Given the description of an element on the screen output the (x, y) to click on. 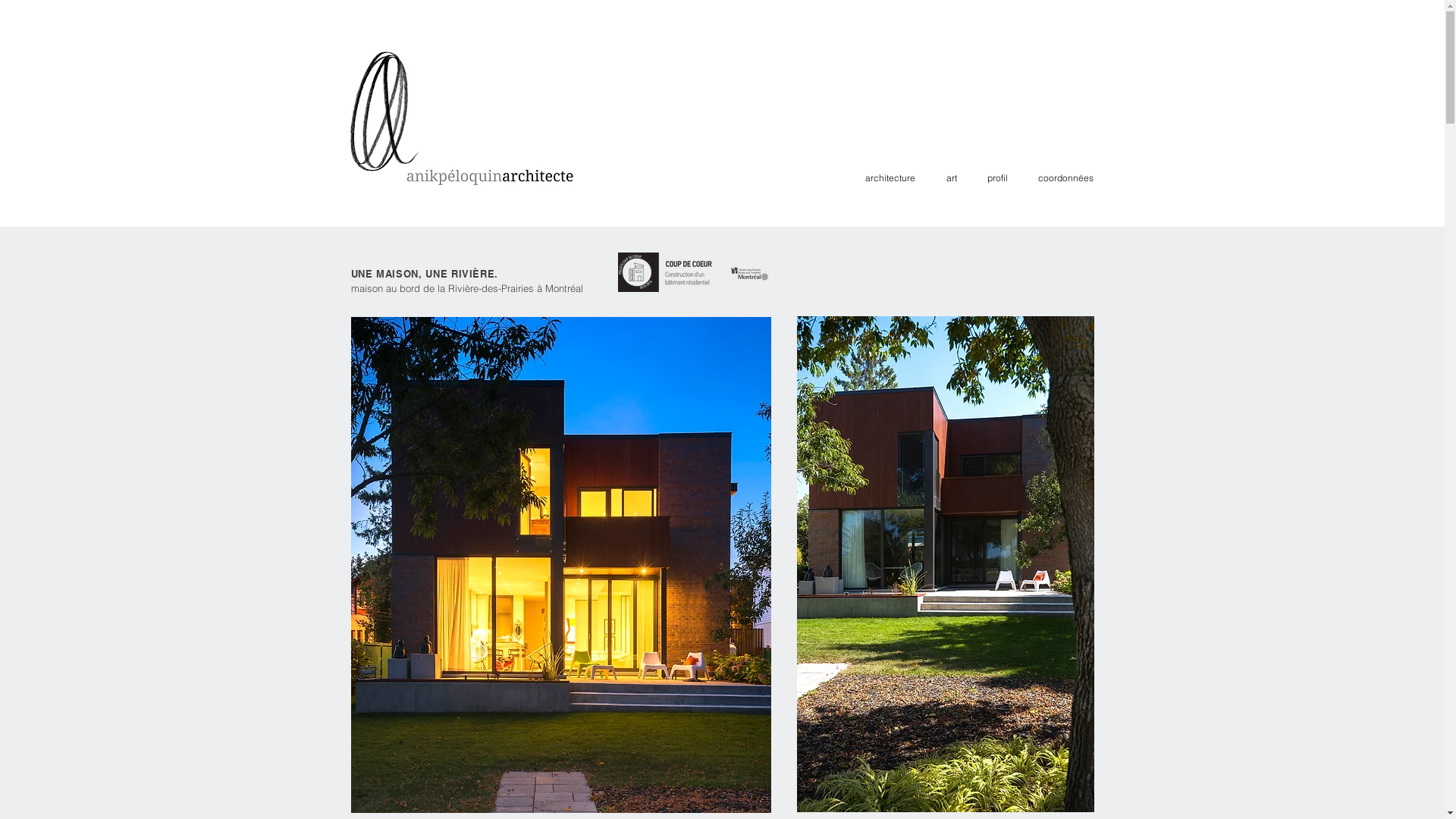
maisonriviere_photo8LR.jpg Element type: hover (560, 564)
architecture Element type: text (881, 177)
maisonriviere_photo5LR.jpg Element type: hover (944, 564)
profil Element type: text (989, 177)
APA_LogoSite22.jpg Element type: hover (462, 116)
art Element type: text (942, 177)
